Given the description of an element on the screen output the (x, y) to click on. 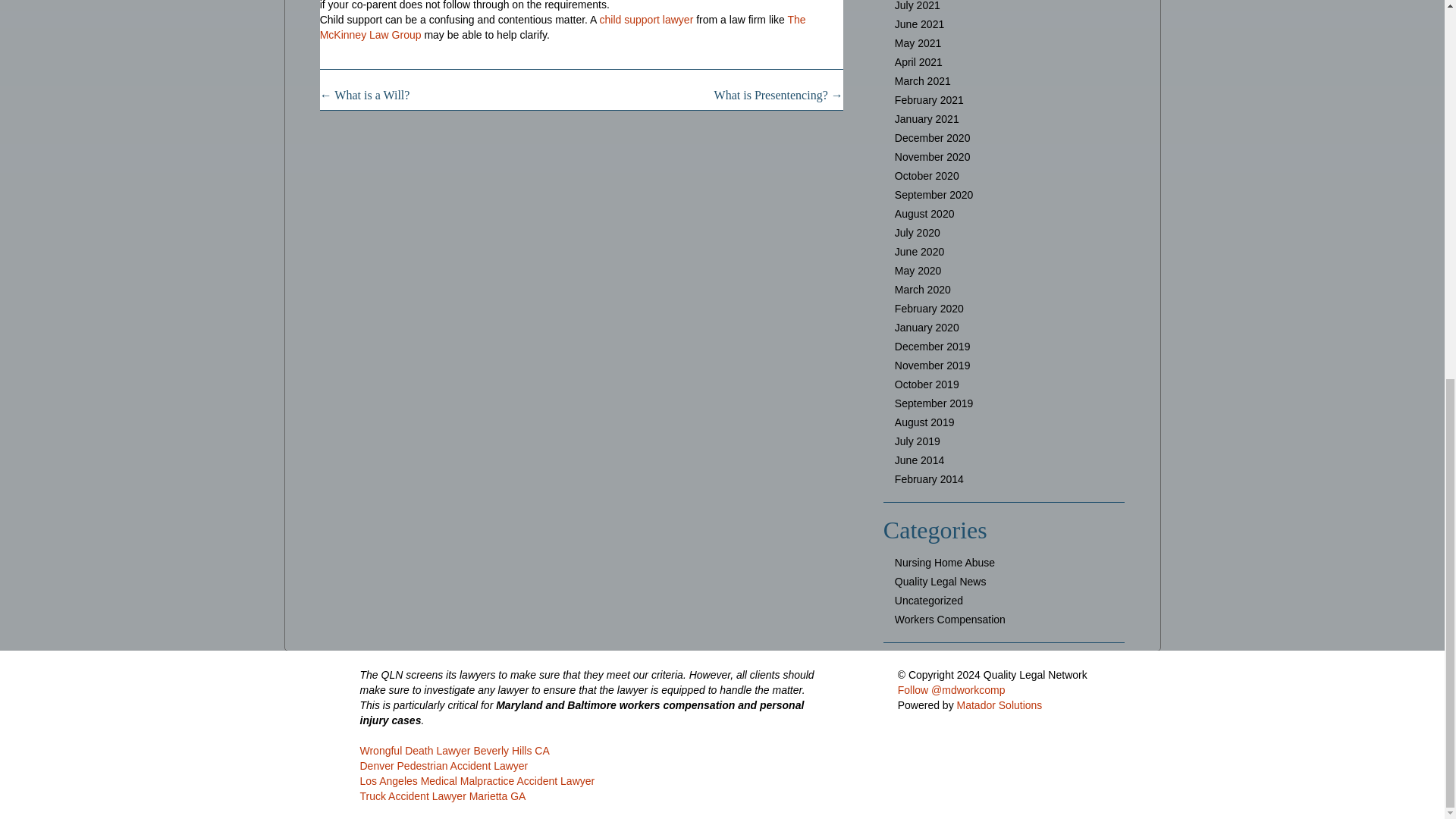
The McKinney Law Group (563, 26)
child support lawyer (646, 19)
